Given the description of an element on the screen output the (x, y) to click on. 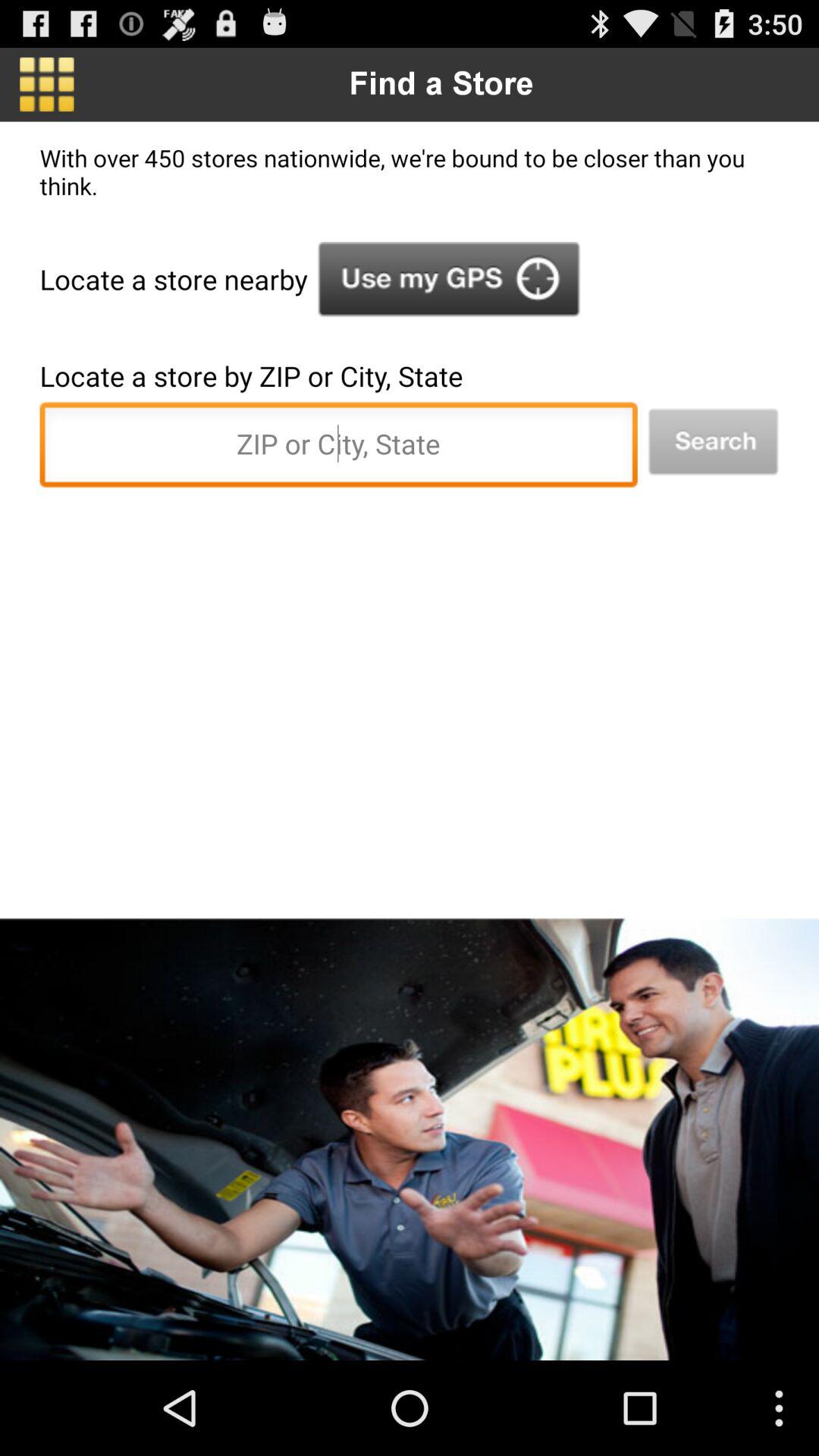
search (713, 442)
